Given the description of an element on the screen output the (x, y) to click on. 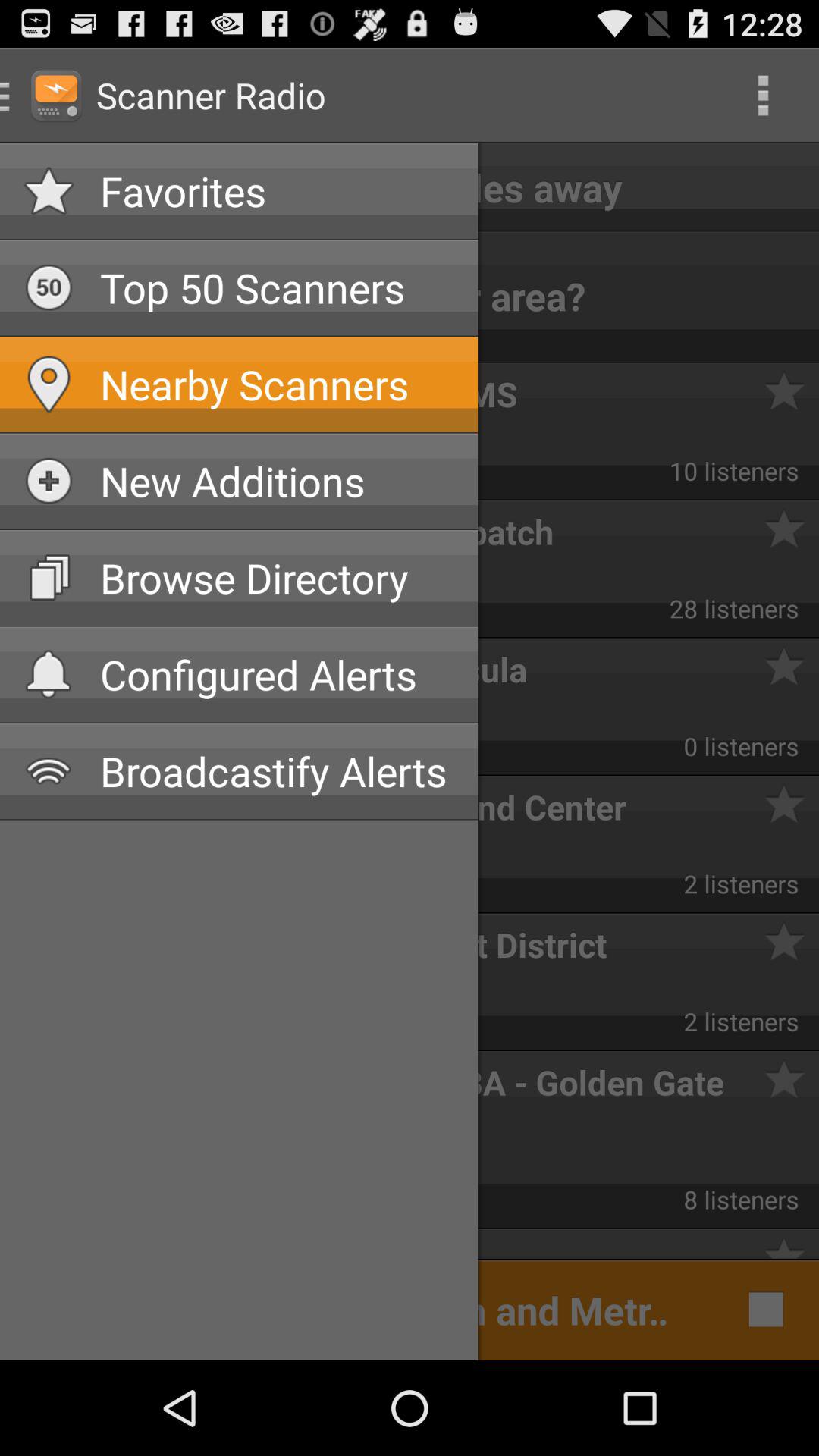
icon left to new additions (49, 480)
